Given the description of an element on the screen output the (x, y) to click on. 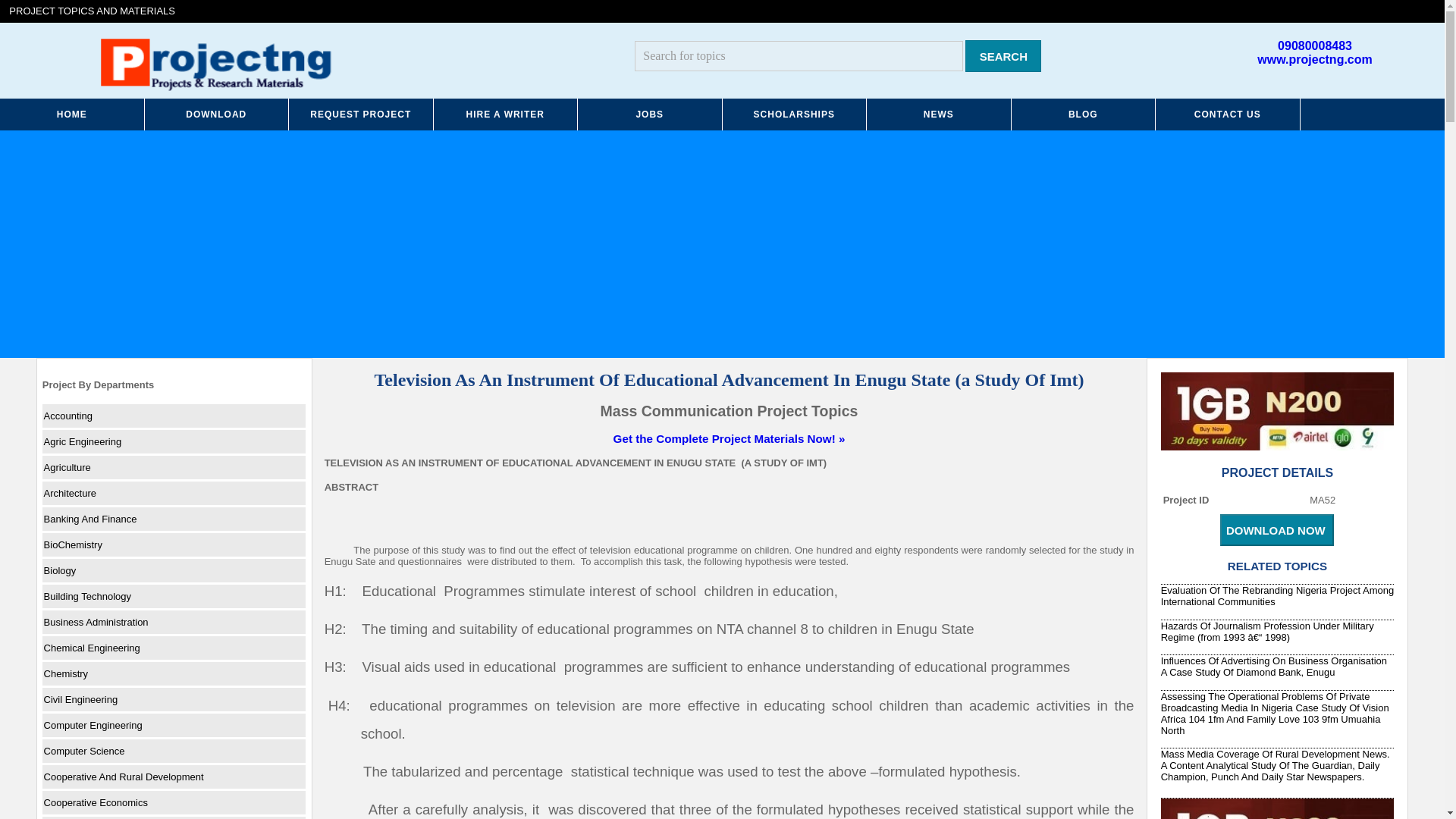
DOWNLOAD (216, 114)
Contacts (1228, 114)
Hire a Project Writer (505, 114)
SEARCH (1003, 56)
09080008483 (1315, 45)
News (938, 114)
NEWS (938, 114)
Blog (1083, 114)
HOME (72, 114)
Download Materials (216, 114)
SEARCH (1003, 56)
BLOG (1083, 114)
Request Project (360, 114)
REQUEST PROJECT (360, 114)
